Given the description of an element on the screen output the (x, y) to click on. 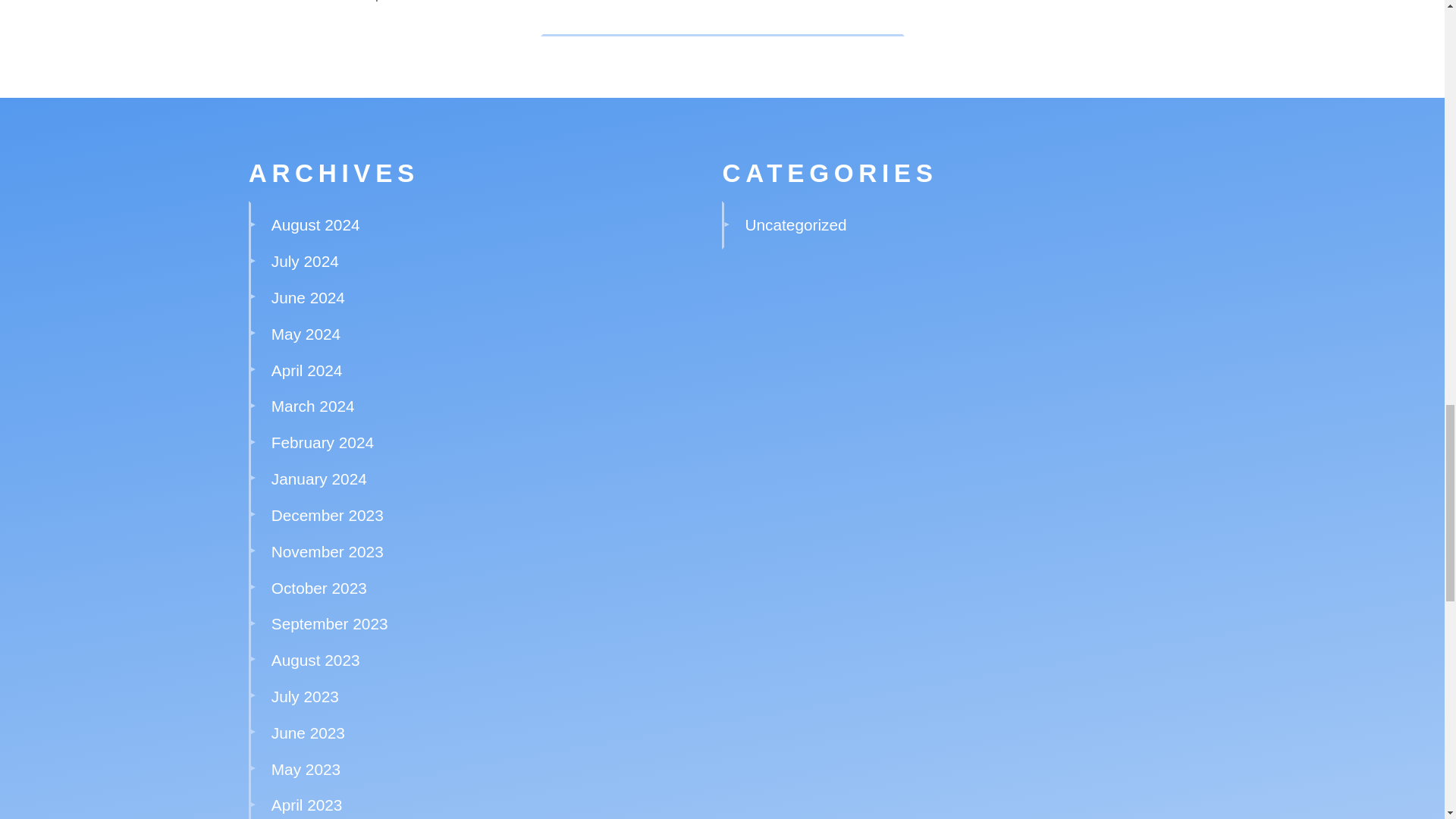
June 2024 (307, 297)
November 2023 (327, 551)
August 2024 (314, 224)
August 2023 (314, 660)
January 2024 (318, 478)
The Basics of Poker (438, 1)
September 2023 (329, 623)
July 2024 (304, 261)
The Basics of Poker (315, 1)
December 2023 (327, 515)
